Given the description of an element on the screen output the (x, y) to click on. 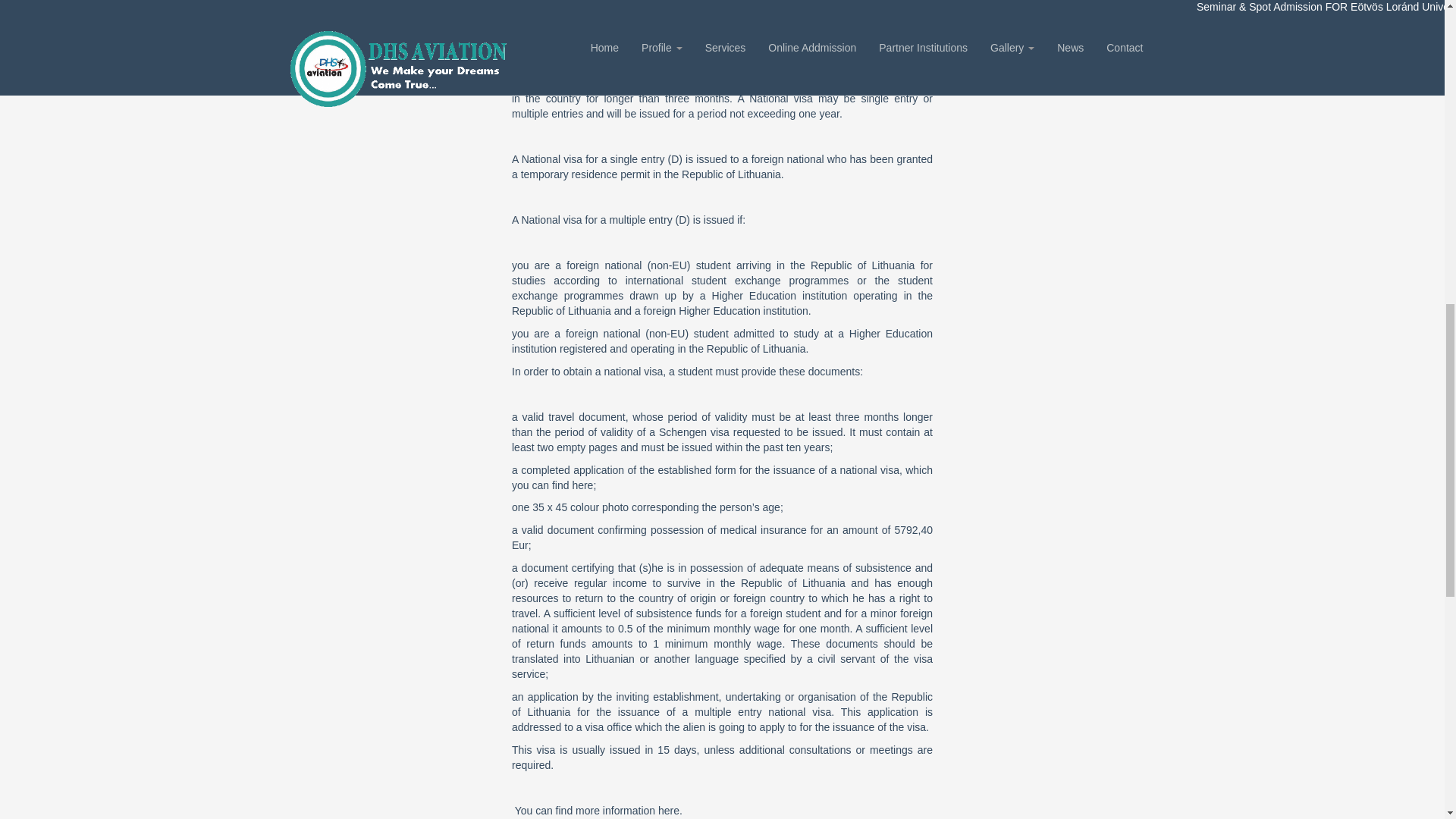
Poland (389, 44)
New Zealand (389, 481)
LITHUANIA (389, 369)
Cyprus (389, 257)
Lithuania (389, 144)
USA (389, 594)
POLAND EDUCATION FAIR 2016 (389, 705)
